Given the description of an element on the screen output the (x, y) to click on. 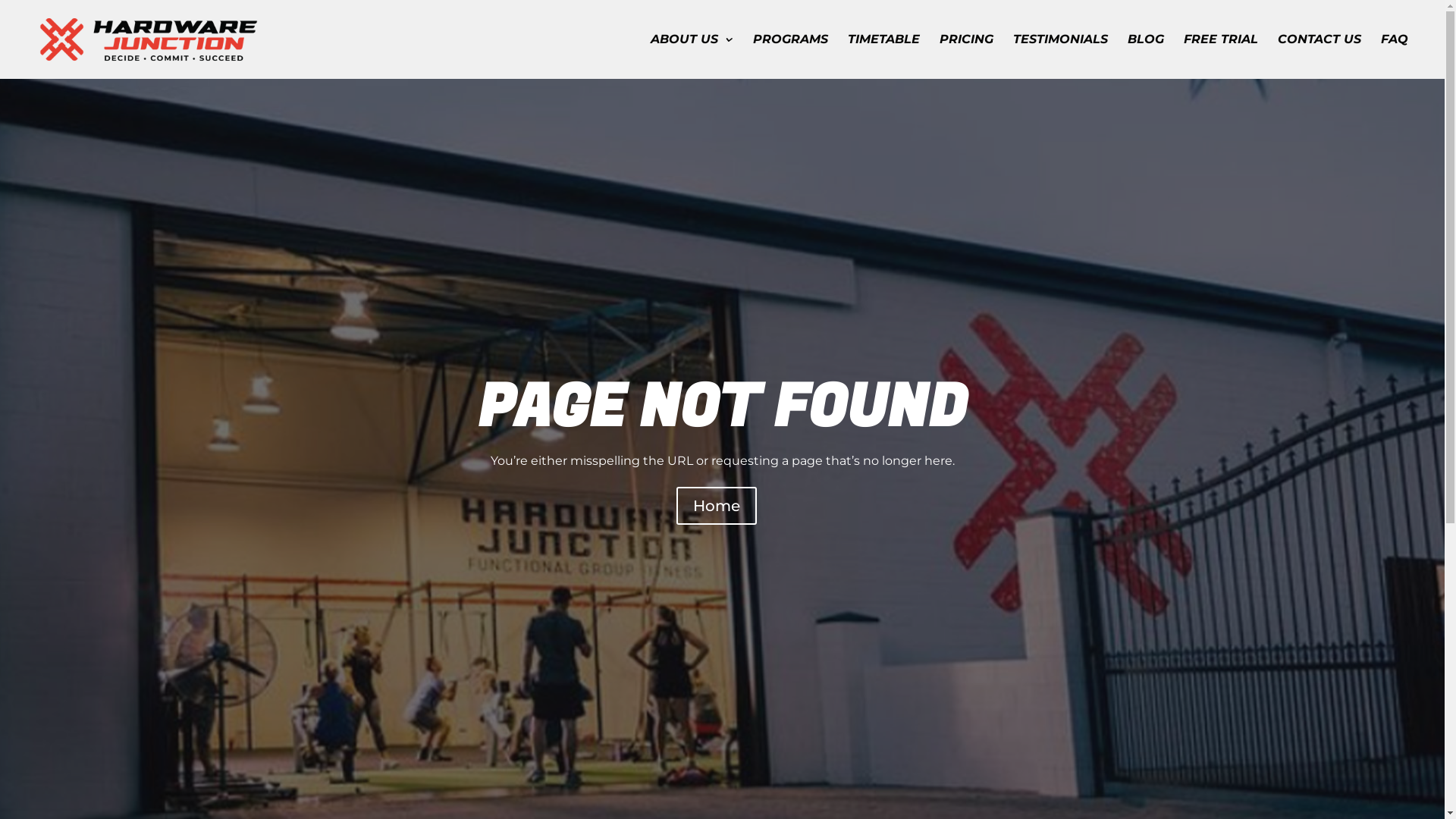
FREE TRIAL Element type: text (1220, 56)
ABOUT US Element type: text (691, 56)
PRICING Element type: text (966, 56)
TESTIMONIALS Element type: text (1060, 56)
PROGRAMS Element type: text (790, 56)
CONTACT US Element type: text (1319, 56)
BLOG Element type: text (1145, 56)
FAQ Element type: text (1394, 56)
Home Element type: text (716, 505)
TIMETABLE Element type: text (883, 56)
